Given the description of an element on the screen output the (x, y) to click on. 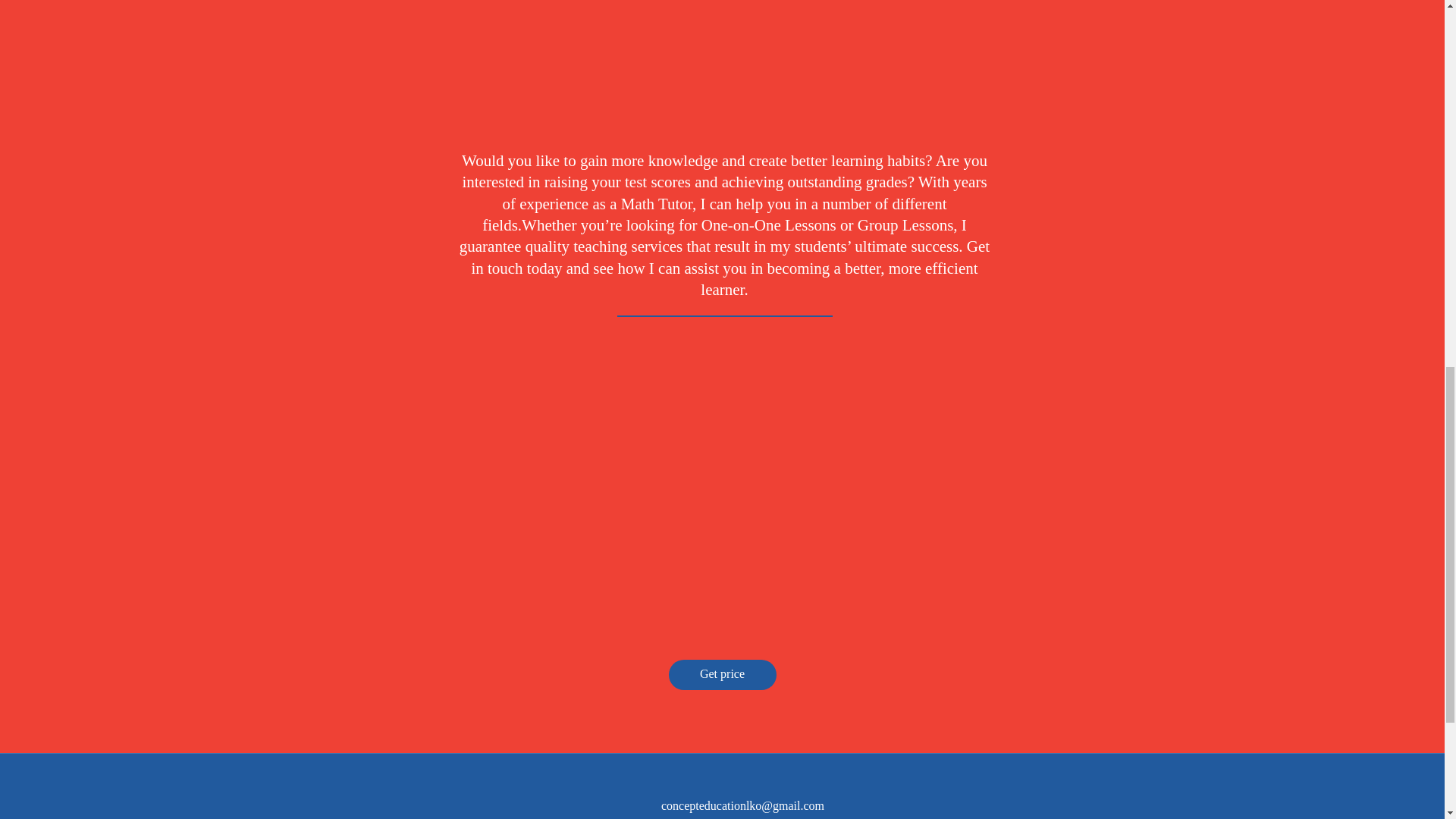
Get price (722, 675)
